Given the description of an element on the screen output the (x, y) to click on. 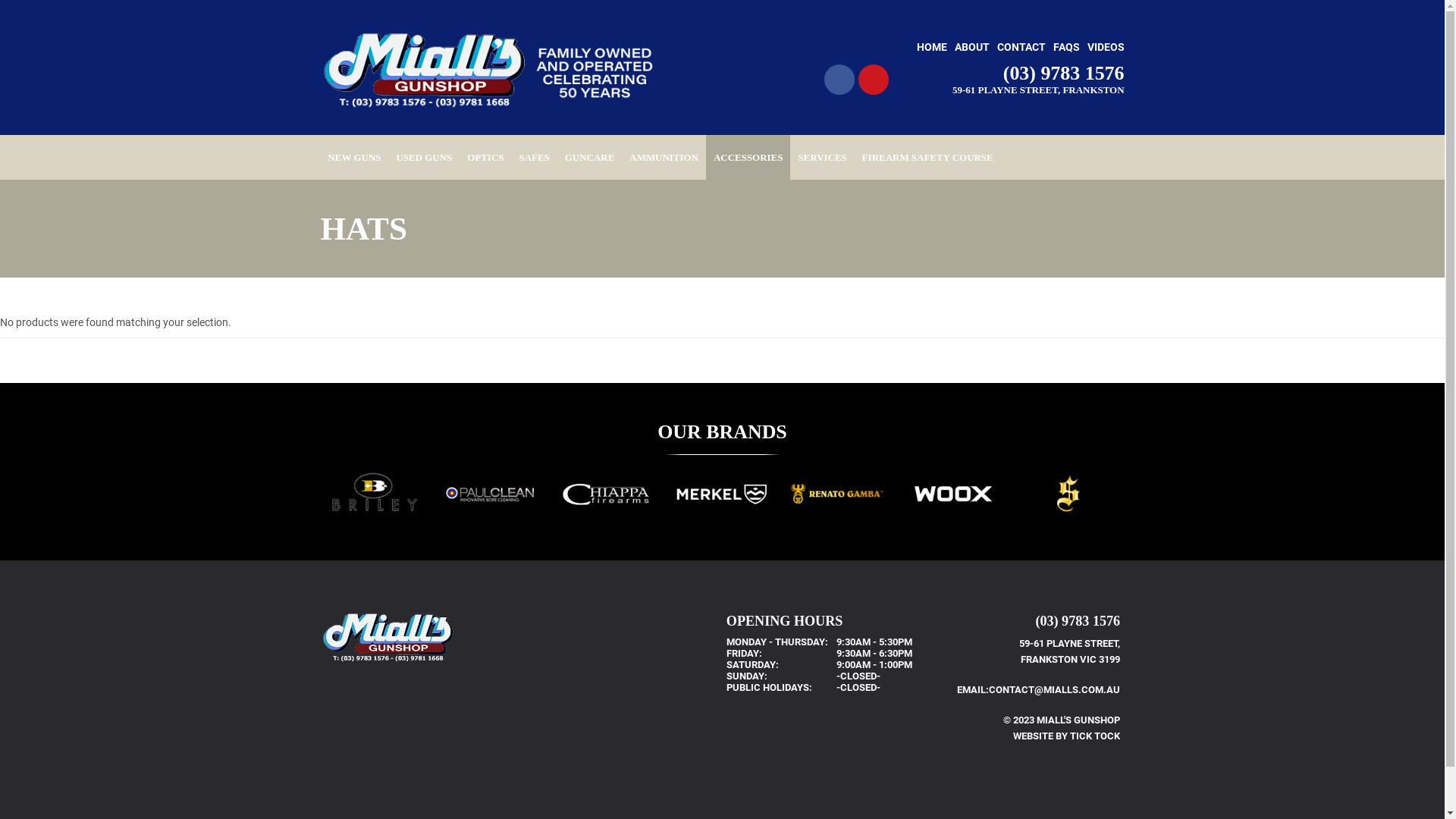
Like Miall's Gunshop on Facebook Element type: hover (838, 79)
Mialls Element type: hover (490, 70)
WEBSITE BY TICK TOCK Element type: text (1066, 735)
SKIP TO CONTENT Element type: text (327, 150)
FIREARM SAFETY COURSE Element type: text (927, 157)
CONTACT Element type: text (1020, 46)
NEW GUNS Element type: text (354, 157)
CONTACT@MIALLS.COM.AU Element type: text (1054, 689)
SAFES Element type: text (533, 157)
GUNCARE Element type: text (589, 157)
AMMUNITION Element type: text (663, 157)
FAQS Element type: text (1065, 46)
ACCESSORIES Element type: text (748, 157)
USED GUNS Element type: text (423, 157)
HOME Element type: text (931, 46)
ABOUT Element type: text (970, 46)
Follow Miall's Gunshop on SoundCloud Element type: hover (873, 79)
Mialls Element type: hover (387, 637)
SERVICES Element type: text (821, 157)
OPTICS Element type: text (485, 157)
VIDEOS Element type: text (1105, 46)
